Given the description of an element on the screen output the (x, y) to click on. 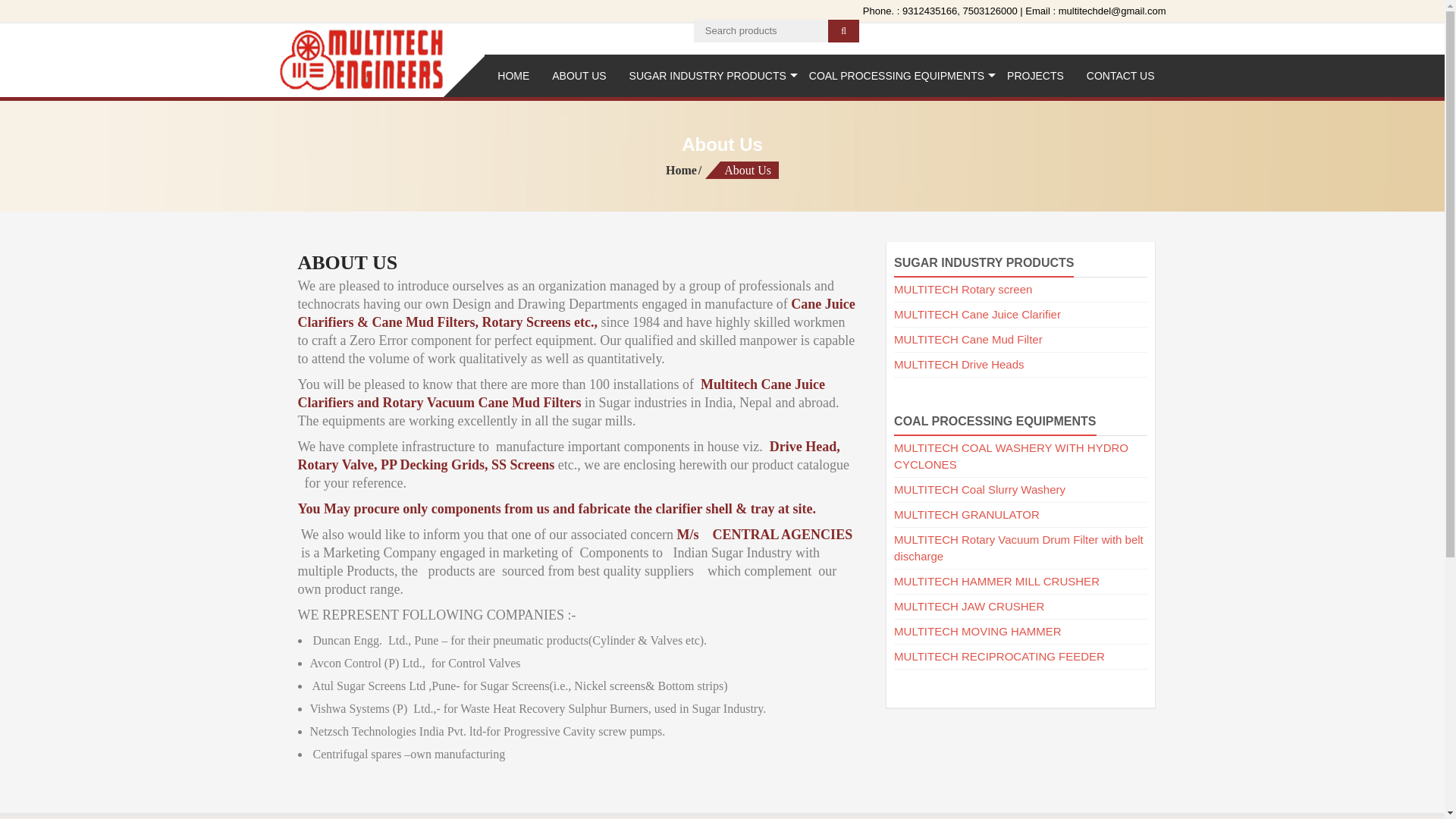
SUGAR INDUSTRY PRODUCTS (707, 75)
MULTITECH JAW CRUSHER (968, 605)
MULTITECH RECIPROCATING FEEDER (999, 656)
CONTACT US (1120, 75)
MULTITECH Coal Slurry Washery (979, 489)
MULTITECH Cane Mud Filter (967, 338)
MULTITECH Rotary screen (962, 288)
Home (684, 170)
MULTITECH COAL WASHERY WITH HYDRO CYCLONES (1010, 455)
PROJECTS (1035, 75)
MULTITECH GRANULATOR (966, 513)
MULTITECH MOVING HAMMER (977, 631)
MULTITECH HAMMER MILL CRUSHER (996, 581)
HOME (513, 75)
COAL PROCESSING EQUIPMENTS (896, 75)
